Given the description of an element on the screen output the (x, y) to click on. 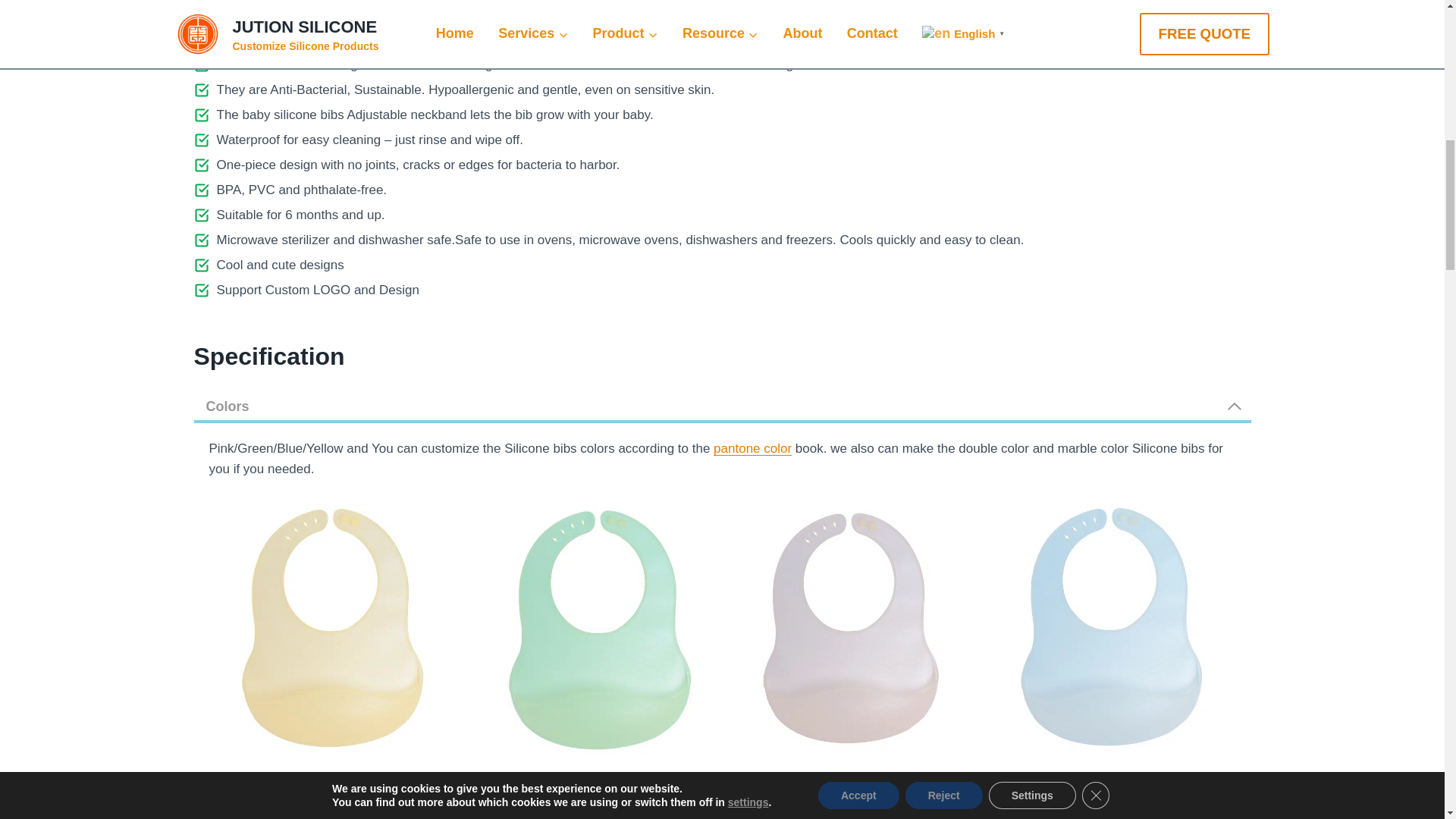
pantone color (752, 448)
